Given the description of an element on the screen output the (x, y) to click on. 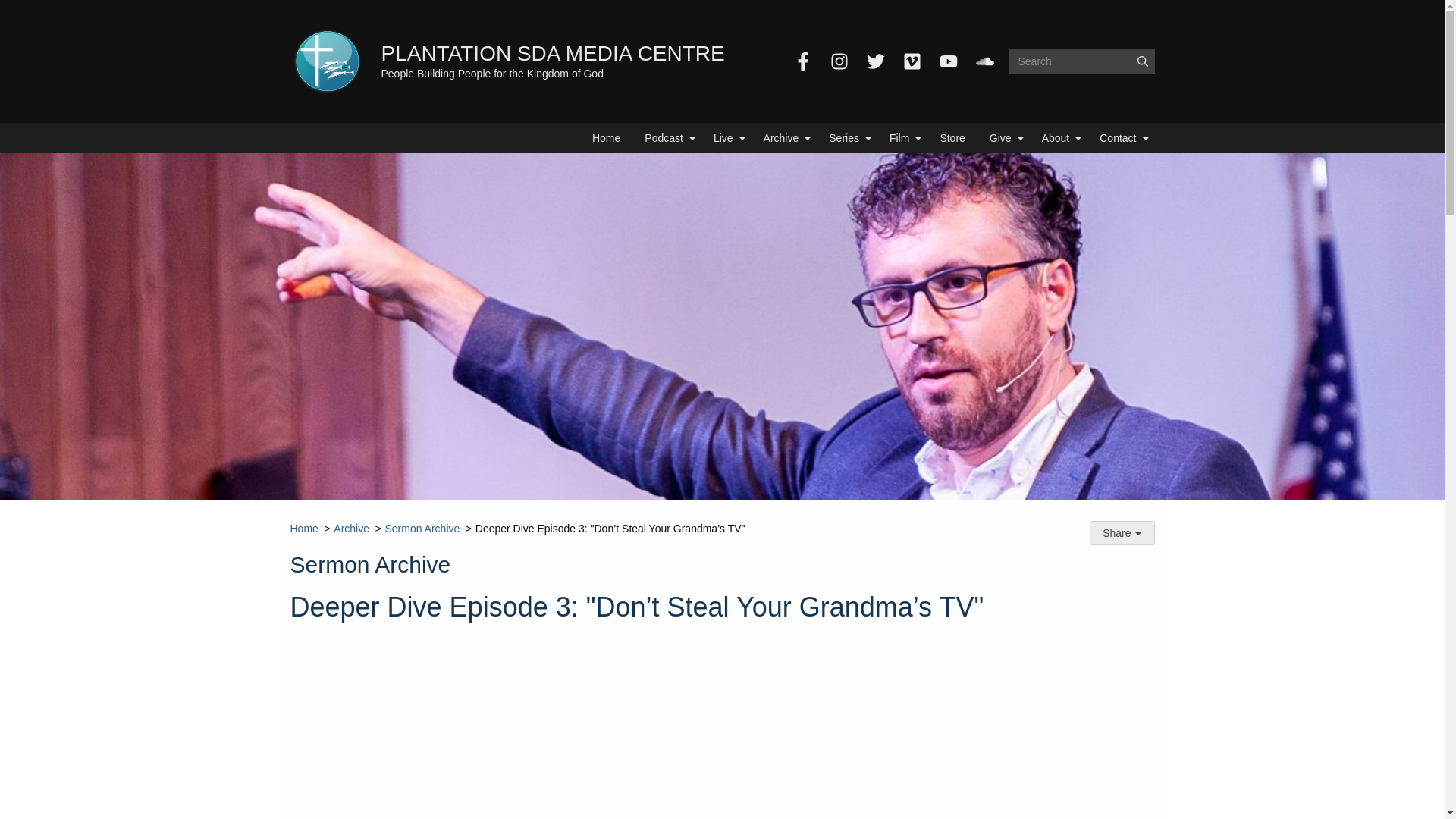
Home (605, 137)
Live (726, 137)
Archive (783, 137)
Podcast (666, 137)
